Given the description of an element on the screen output the (x, y) to click on. 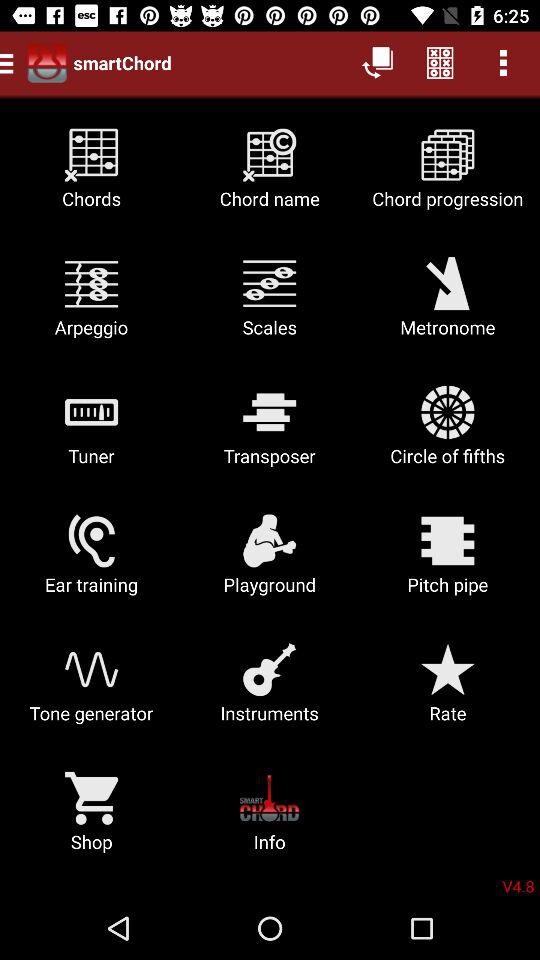
launch the chord name icon (269, 175)
